Given the description of an element on the screen output the (x, y) to click on. 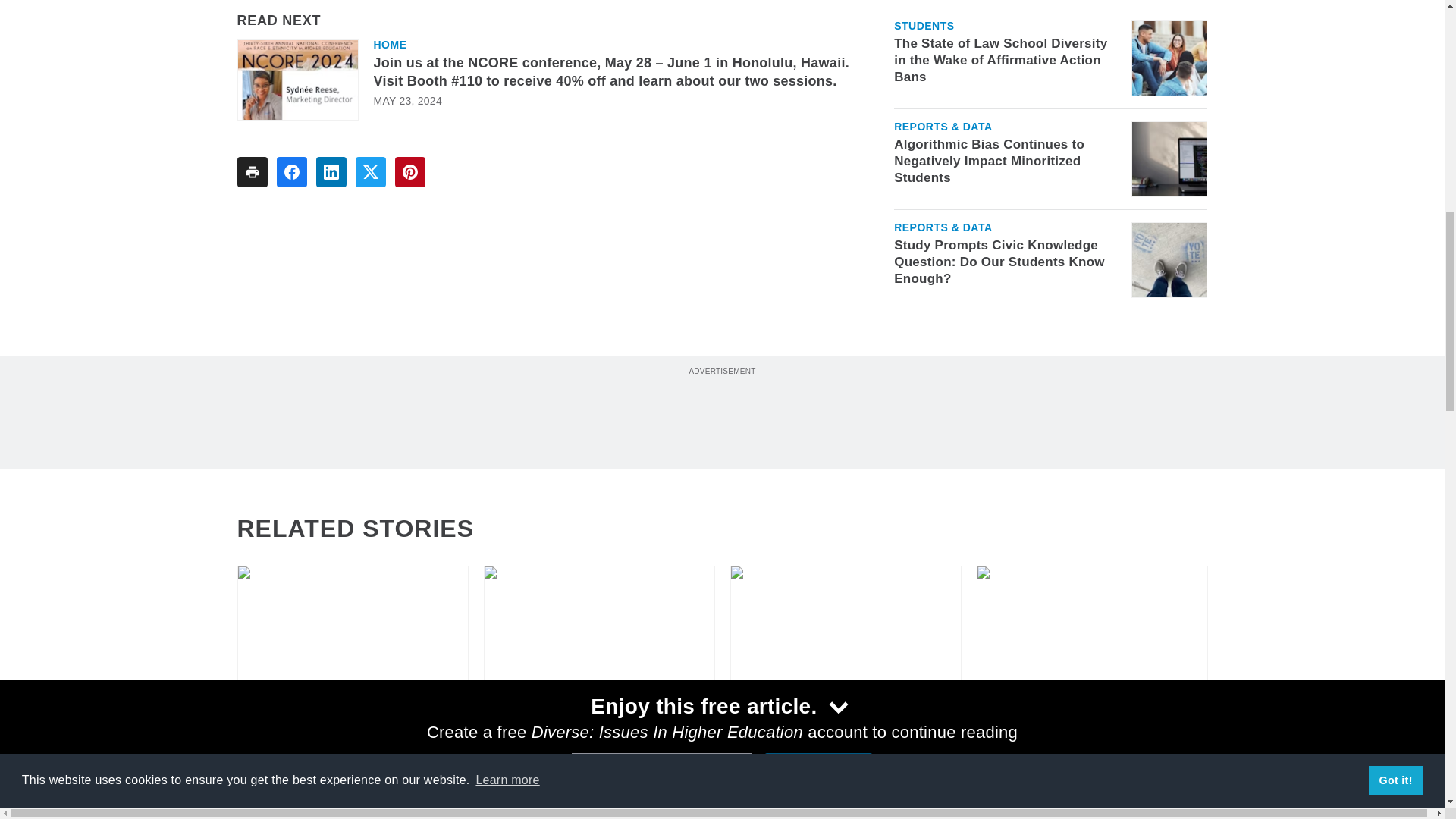
Share To print (250, 172)
Share To facebook (290, 172)
Home (389, 44)
